Given the description of an element on the screen output the (x, y) to click on. 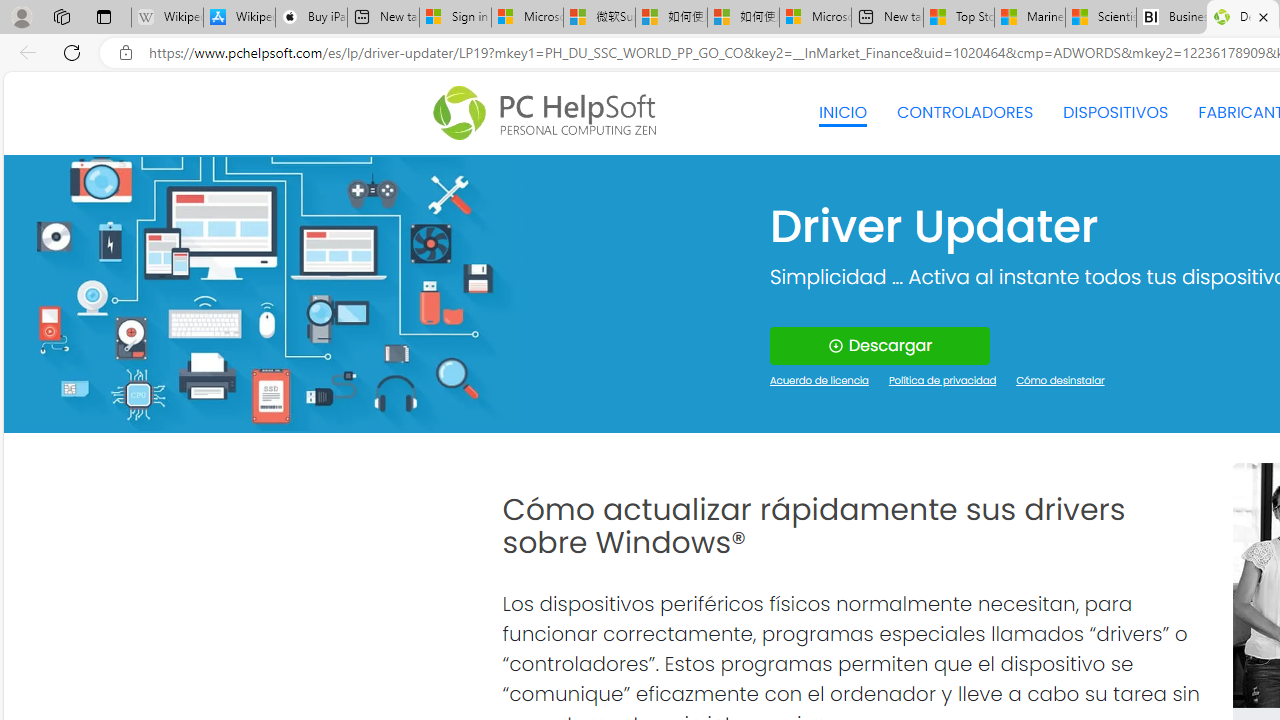
Logo Personal Computing (550, 113)
Top Stories - MSN (959, 17)
